Given the description of an element on the screen output the (x, y) to click on. 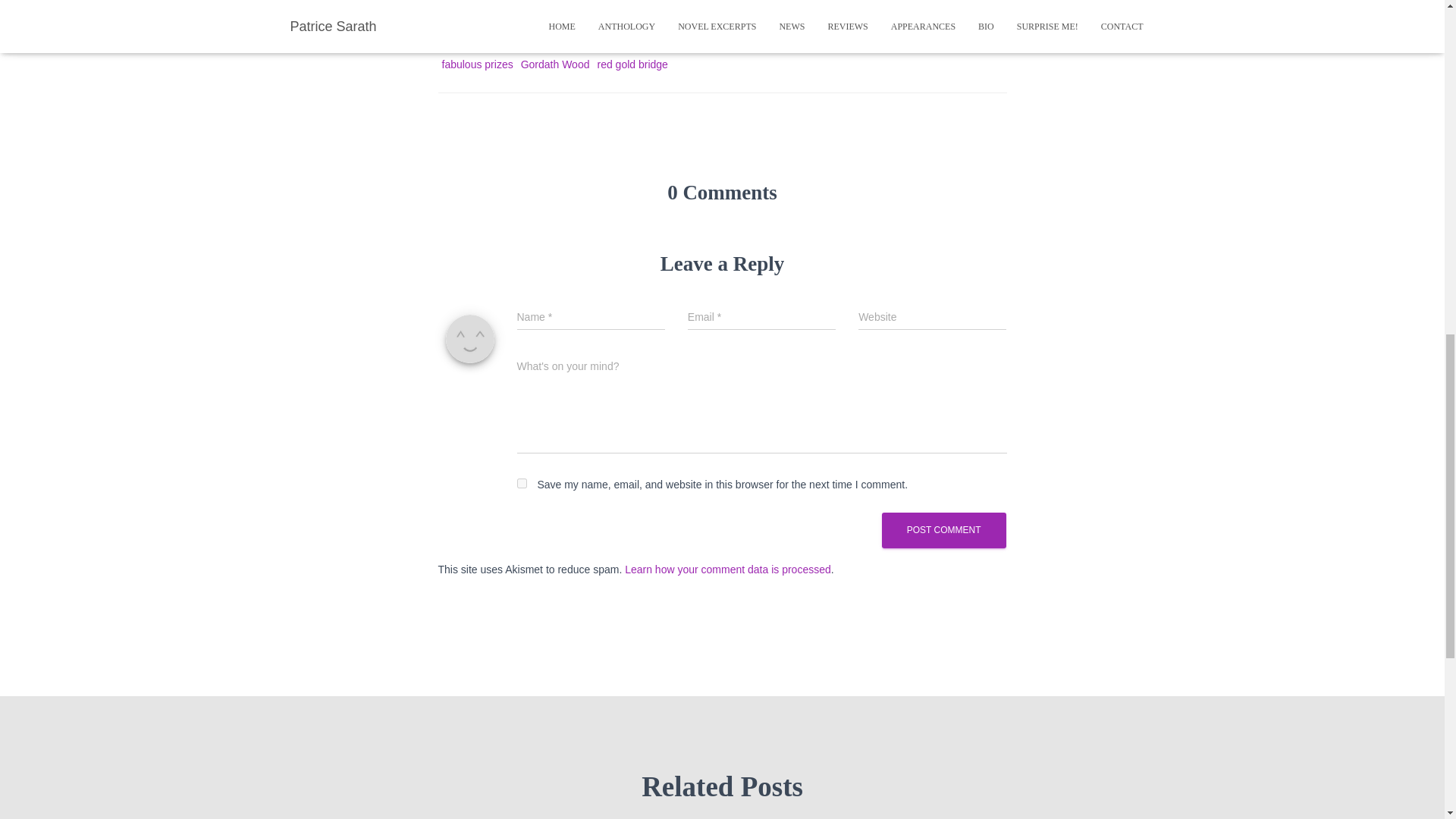
Gordath Wood (555, 64)
Post Comment (944, 529)
fabulous prizes (476, 64)
GORDATH WOOD (541, 14)
Post Comment (944, 529)
yes (521, 483)
Learn how your comment data is processed (727, 569)
red gold bridge (631, 64)
book signing (633, 39)
